Given the description of an element on the screen output the (x, y) to click on. 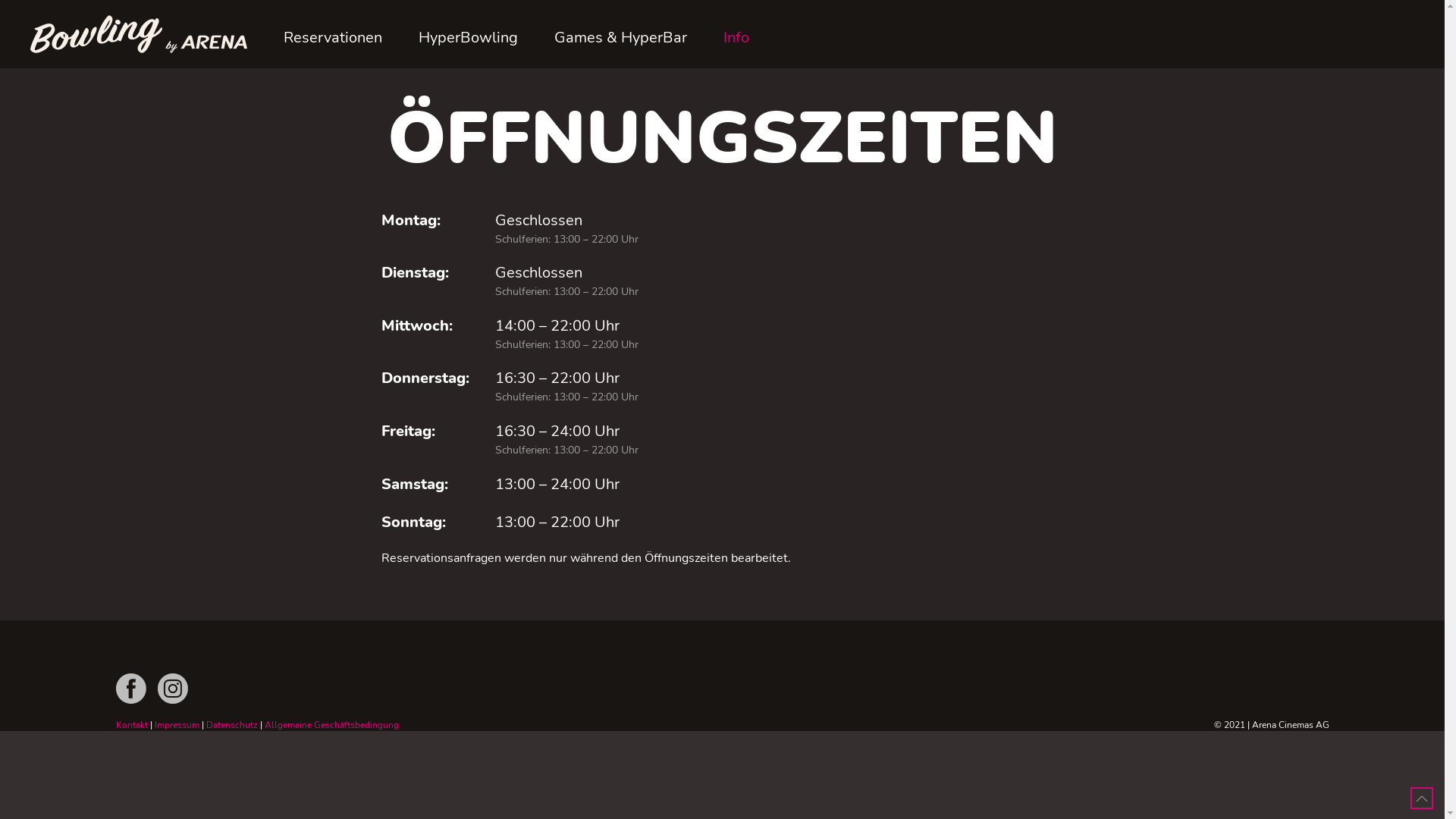
Kontakt Element type: text (131, 724)
Reservationen Element type: text (332, 37)
Games & HyperBar Element type: text (620, 37)
Nach oben Element type: hover (1421, 798)
HyperBowling Element type: text (467, 37)
Info Element type: text (736, 37)
Impressum Element type: text (176, 724)
Datenschutz Element type: text (231, 724)
